Given the description of an element on the screen output the (x, y) to click on. 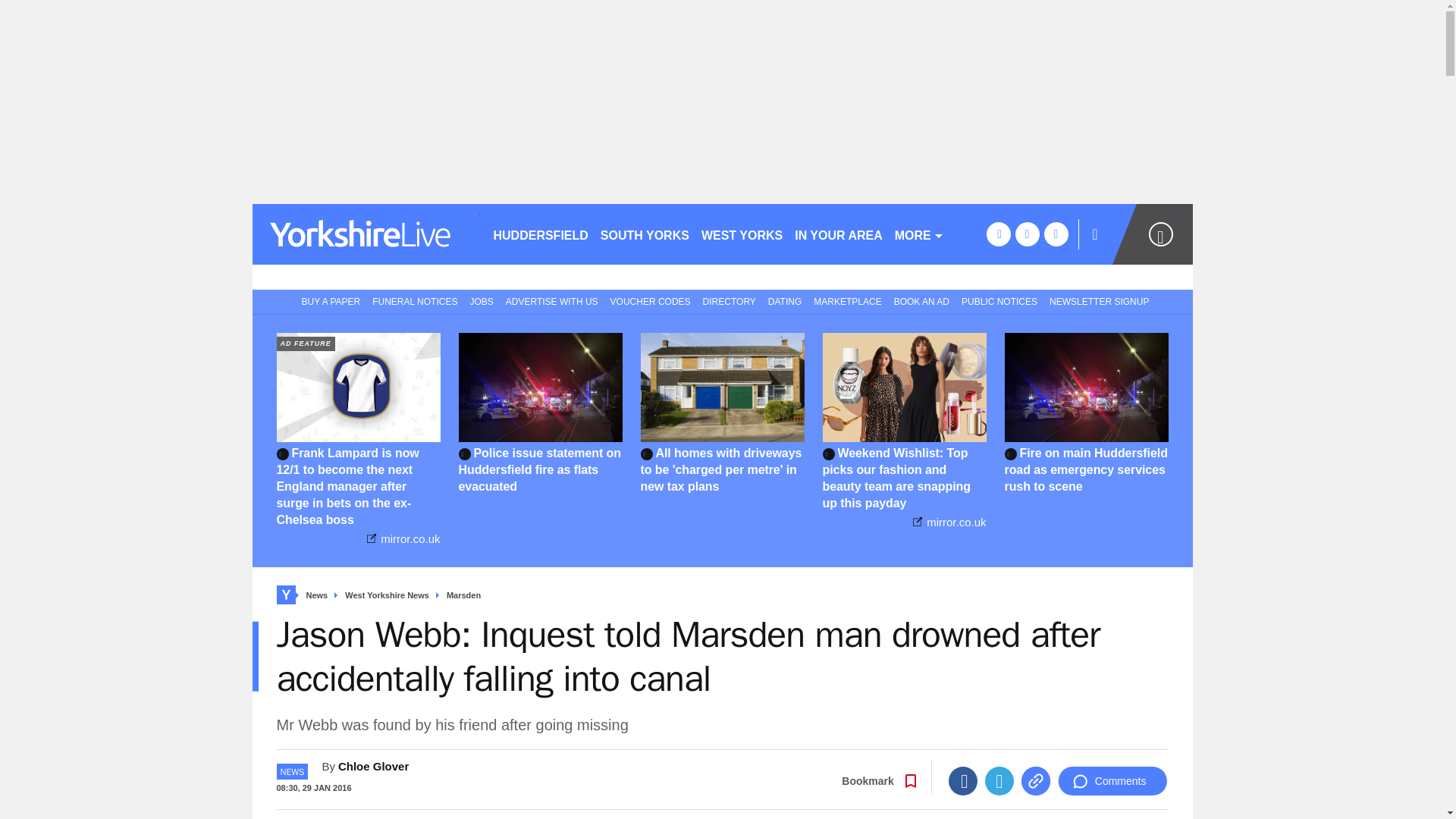
SOUTH YORKS (644, 233)
huddersfieldexaminer (365, 233)
HUDDERSFIELD (540, 233)
Comments (1112, 780)
facebook (997, 233)
WEST YORKS (742, 233)
instagram (1055, 233)
MORE (919, 233)
IN YOUR AREA (838, 233)
Twitter (999, 780)
Facebook (962, 780)
twitter (1026, 233)
